Given the description of an element on the screen output the (x, y) to click on. 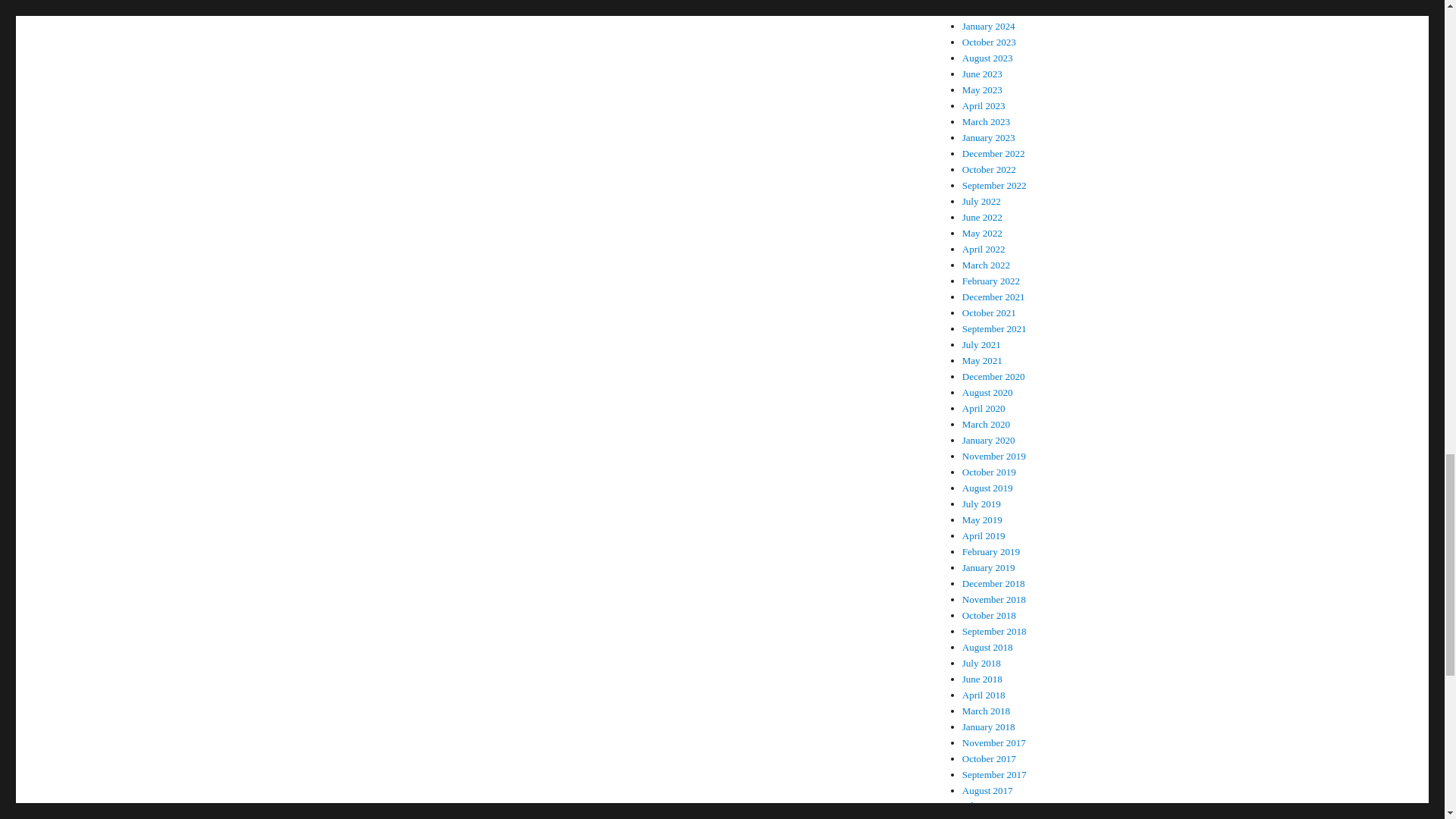
October 2023 (989, 41)
January 2024 (988, 25)
February 2024 (991, 9)
August 2023 (987, 57)
